Given the description of an element on the screen output the (x, y) to click on. 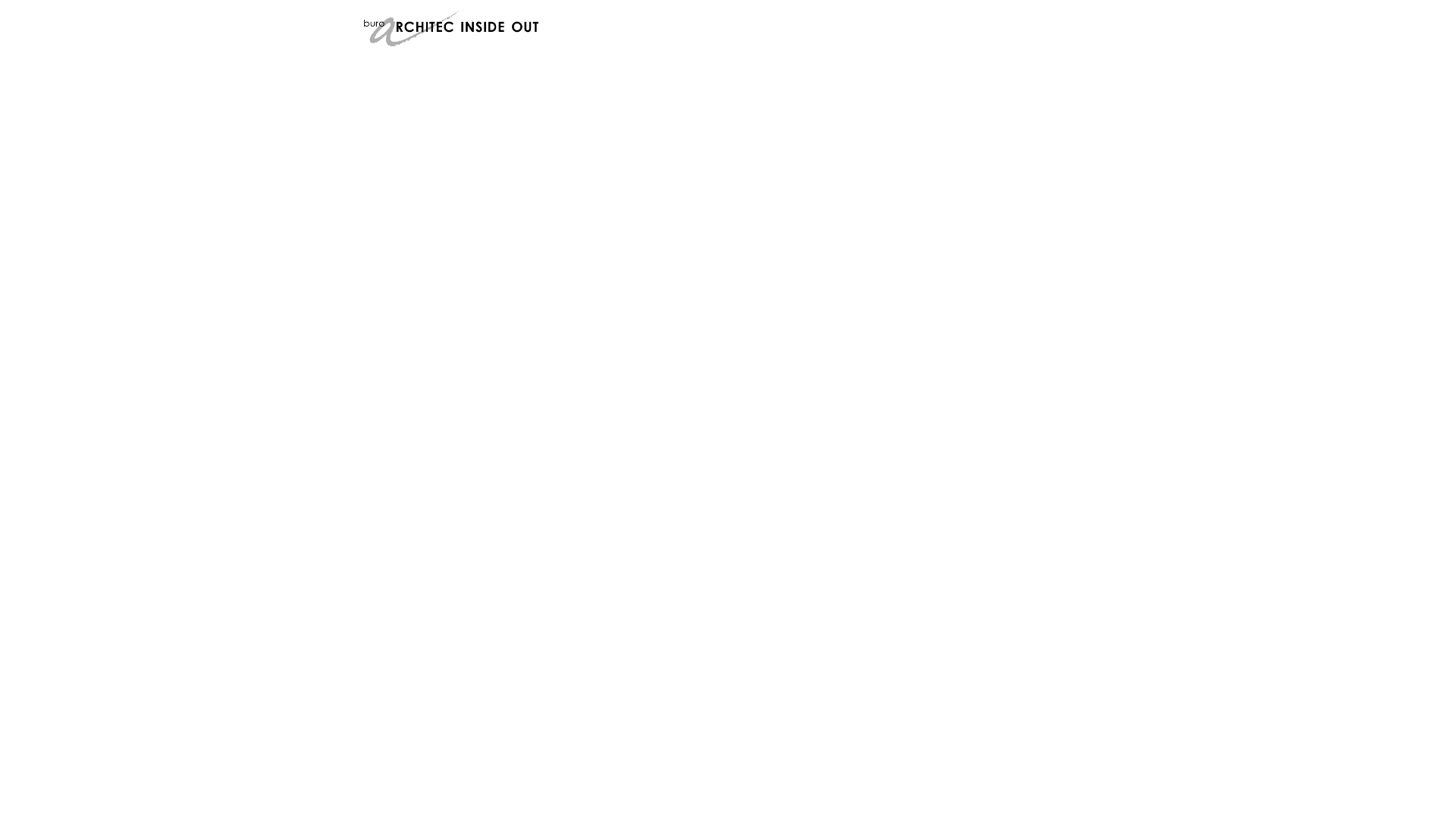
inside Element type: text (481, 26)
architec Element type: text (410, 26)
out Element type: text (522, 26)
